Given the description of an element on the screen output the (x, y) to click on. 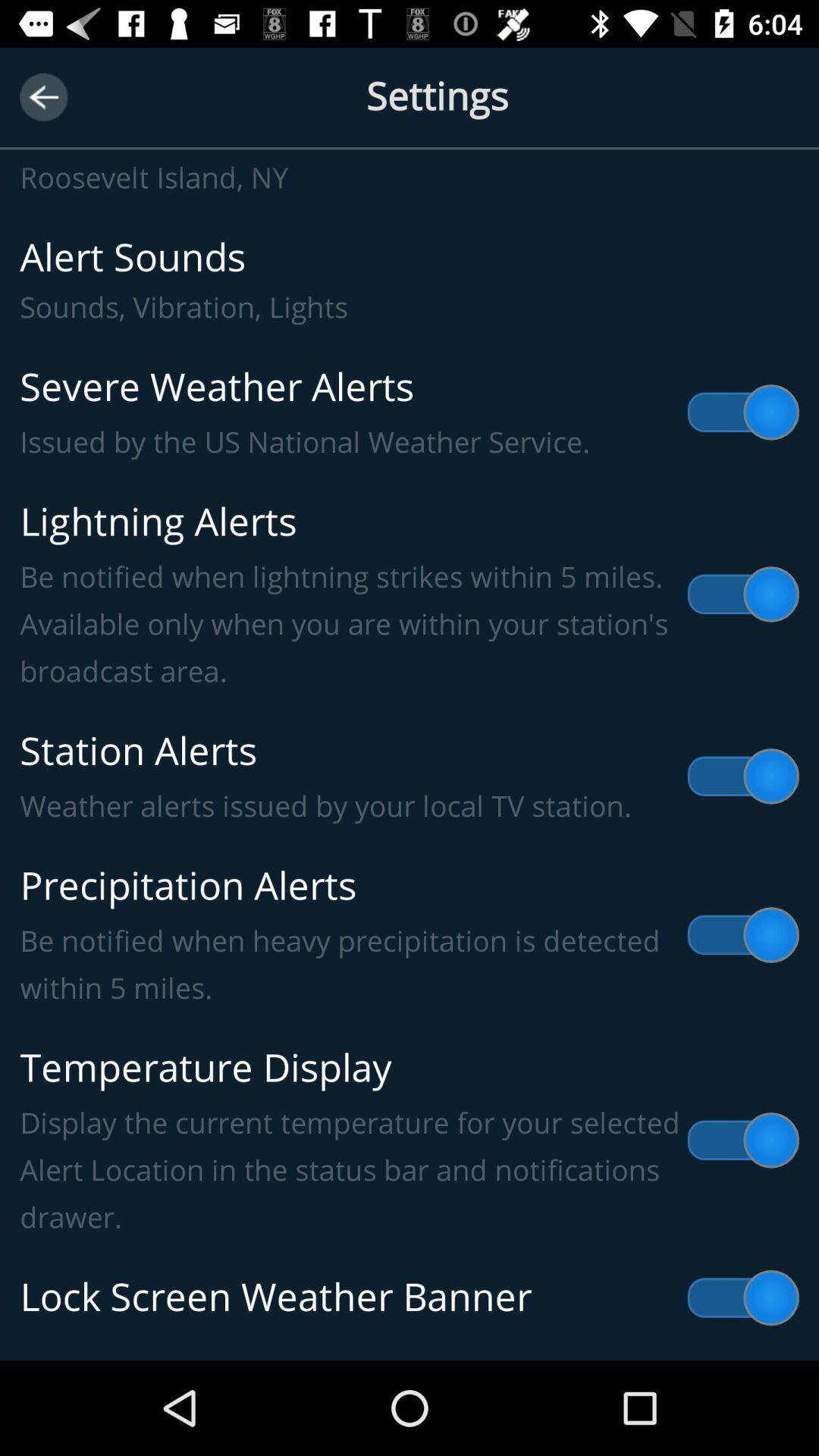
launch the item next to settings icon (43, 97)
